Given the description of an element on the screen output the (x, y) to click on. 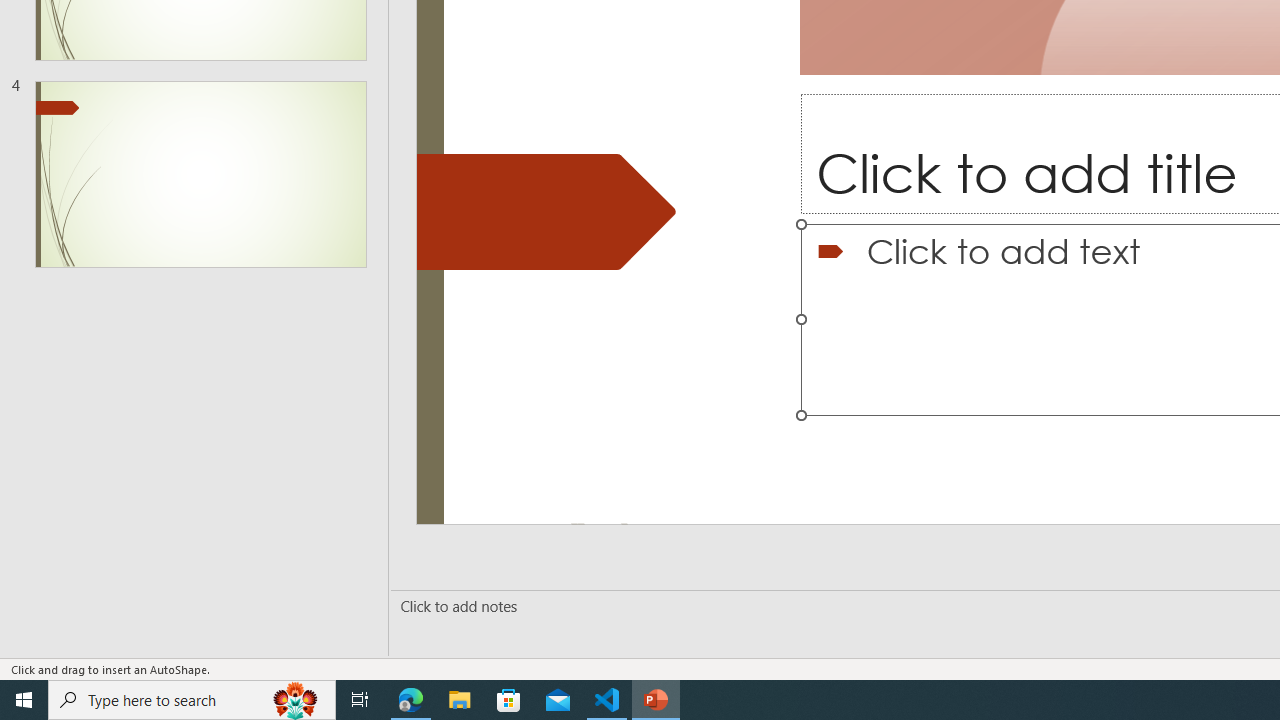
Decorative Locked (546, 212)
Slide (200, 174)
